Given the description of an element on the screen output the (x, y) to click on. 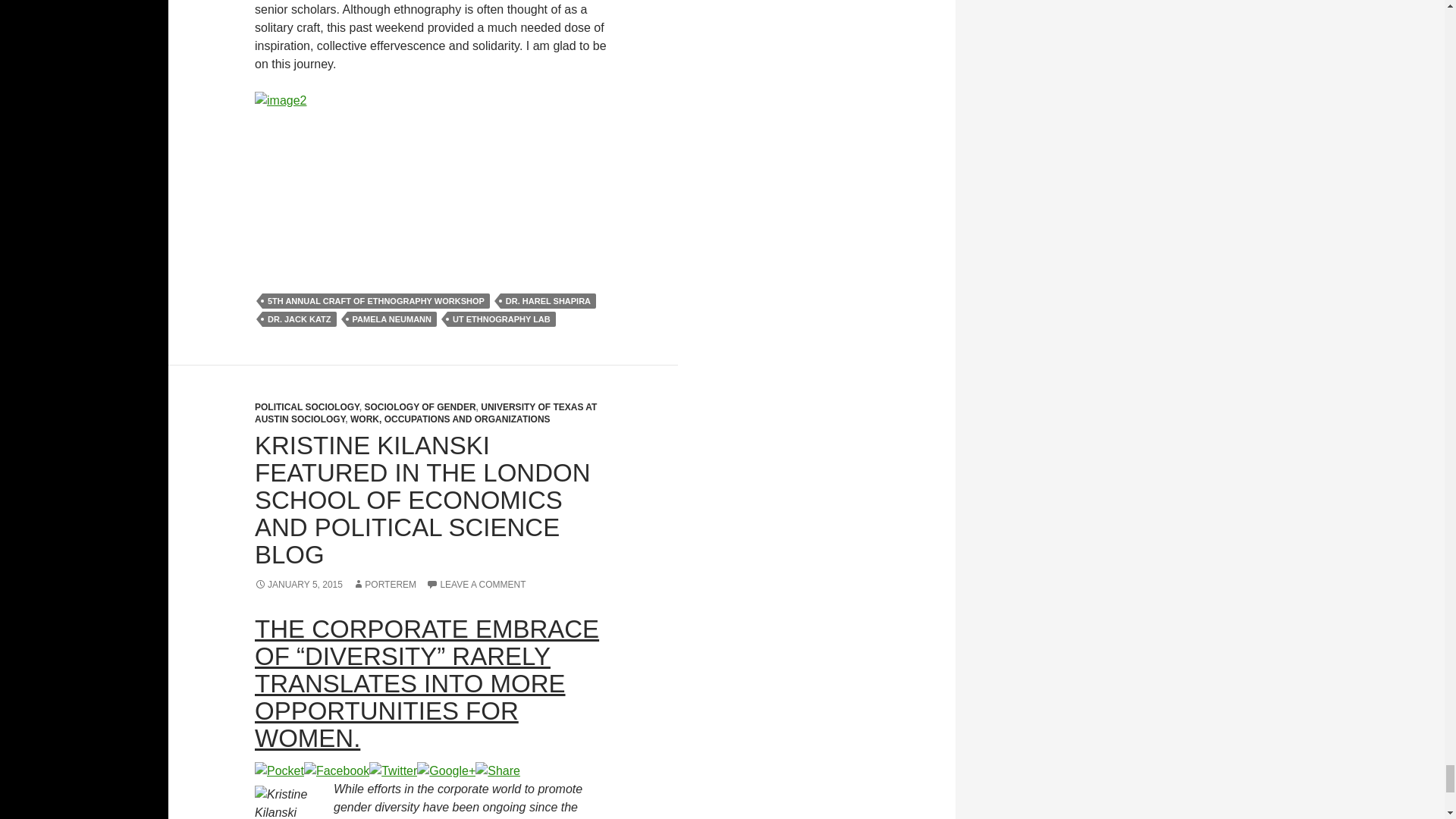
Twitter (392, 769)
Pocket (279, 769)
Facebook (336, 769)
